Given the description of an element on the screen output the (x, y) to click on. 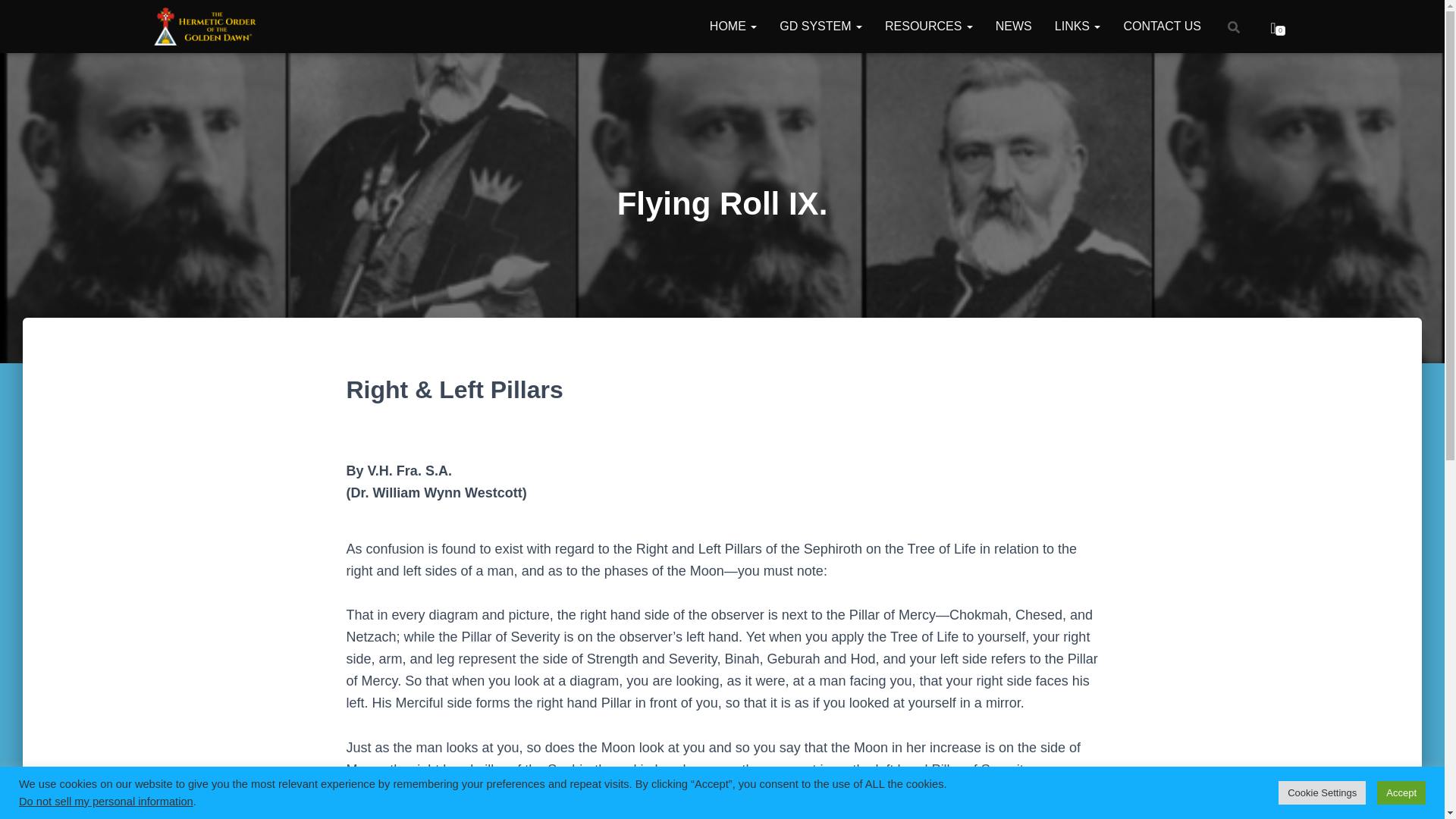
Home (733, 26)
HOME (733, 26)
GD SYSTEM (820, 26)
RESOURCES (928, 26)
